Given the description of an element on the screen output the (x, y) to click on. 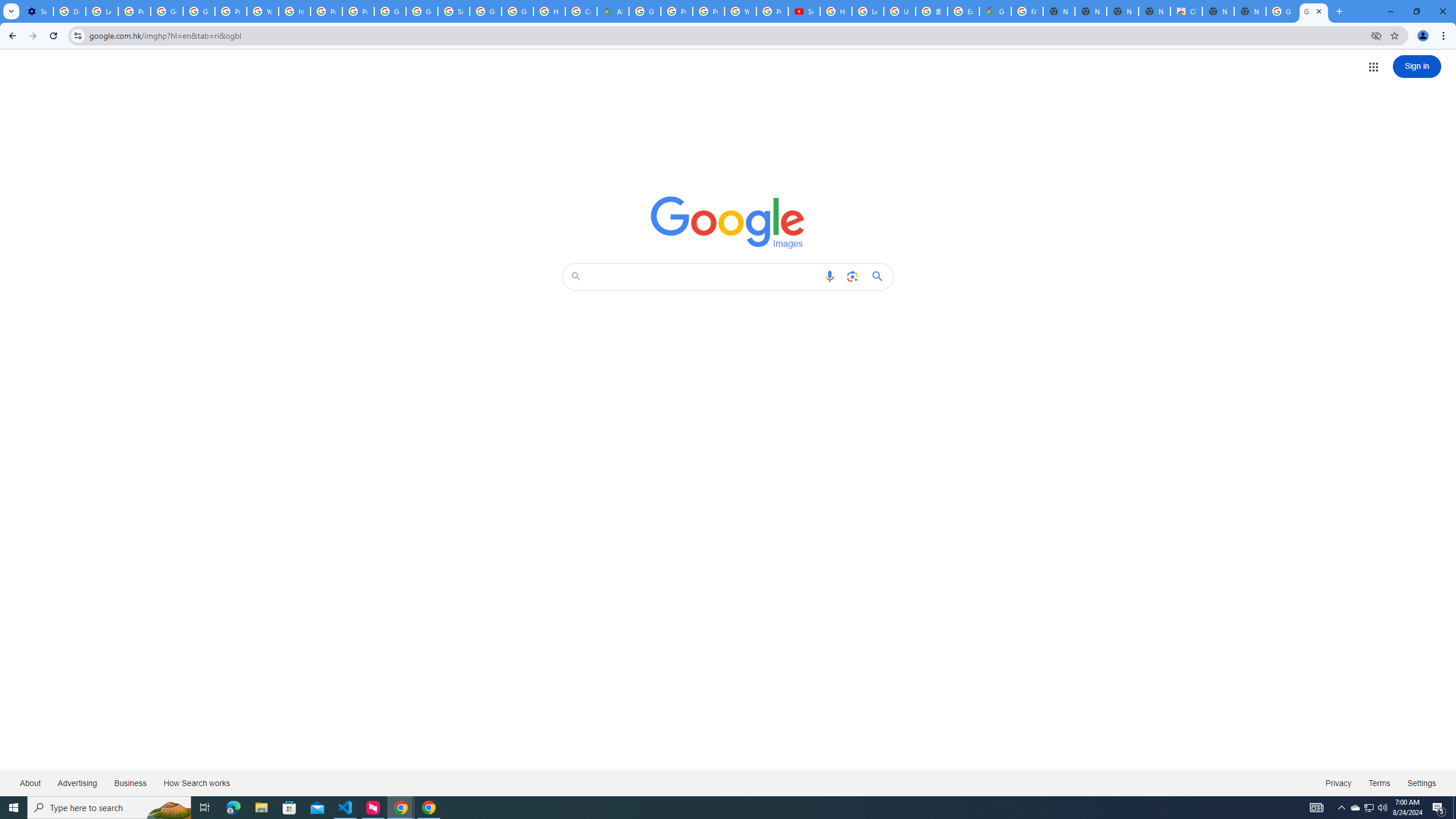
How Search works (196, 782)
Privacy Help Center - Policies Help (676, 11)
Business (129, 782)
Google Images (727, 222)
Explore new street-level details - Google Maps Help (963, 11)
